Given the description of an element on the screen output the (x, y) to click on. 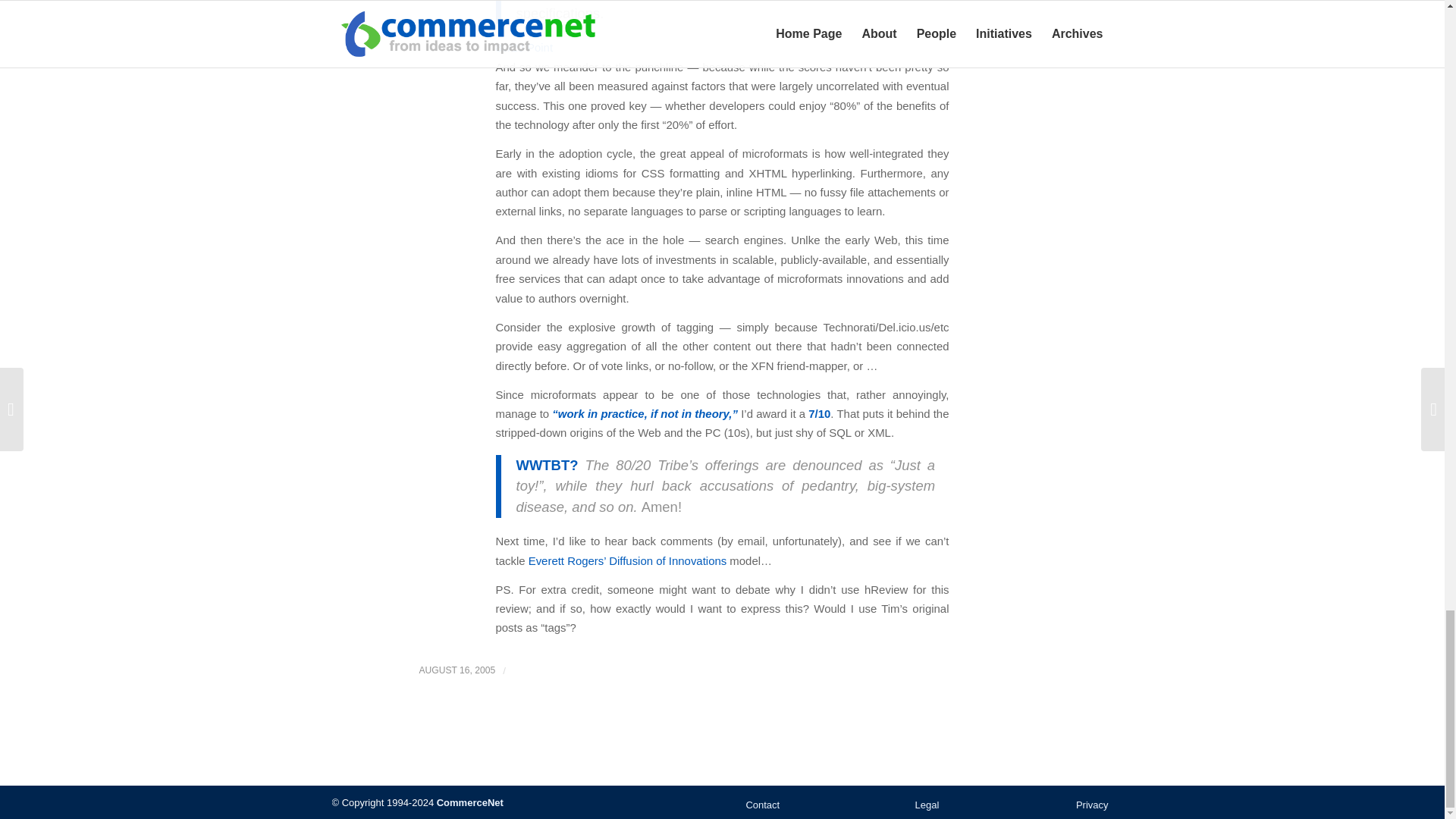
Privacy (1049, 804)
Legal (926, 804)
Contact (804, 804)
